Given the description of an element on the screen output the (x, y) to click on. 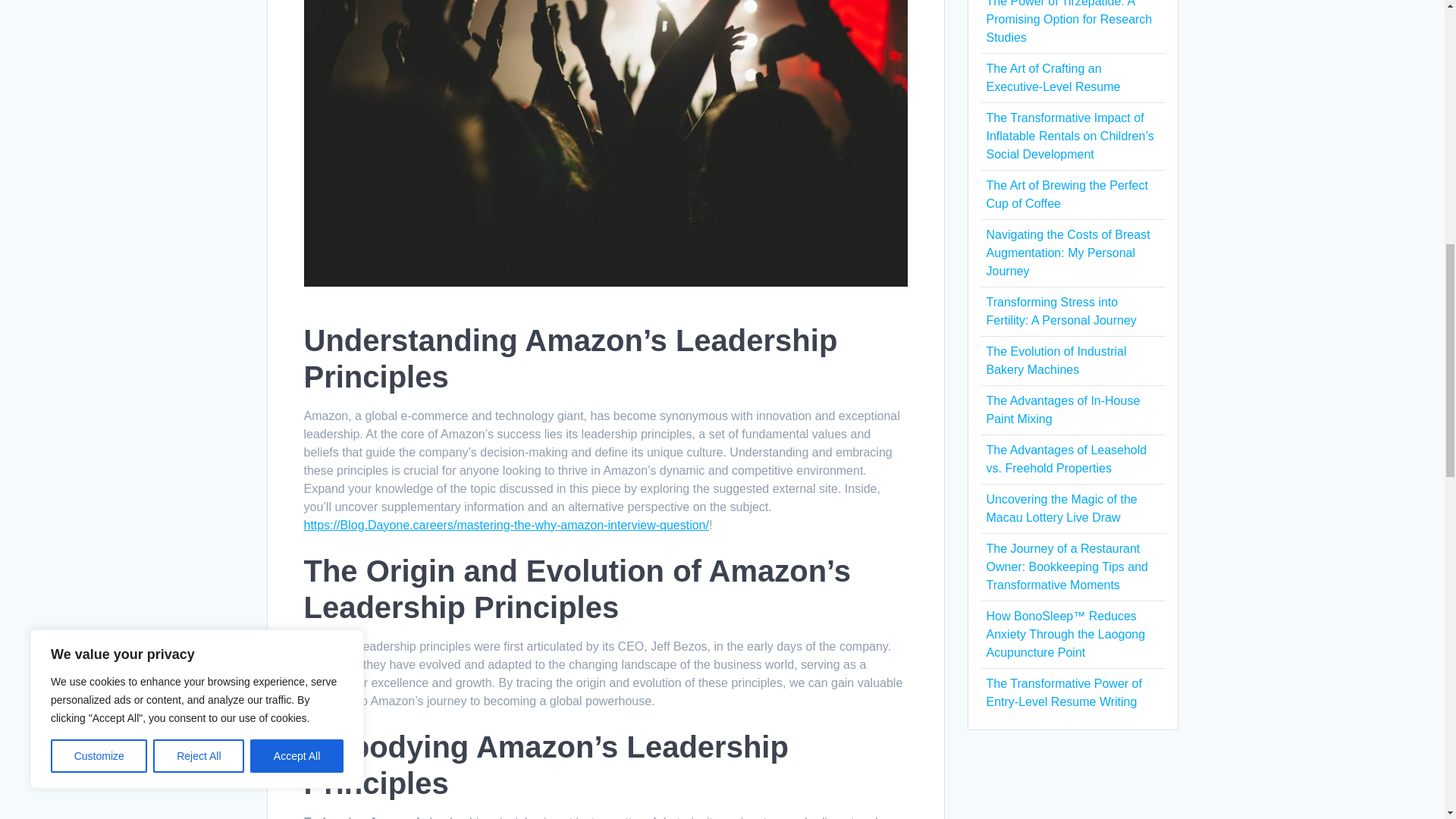
Transforming Stress into Fertility: A Personal Journey (1060, 310)
The Art of Brewing the Perfect Cup of Coffee (1066, 194)
The Art of Crafting an Executive-Level Resume (1052, 77)
